Given the description of an element on the screen output the (x, y) to click on. 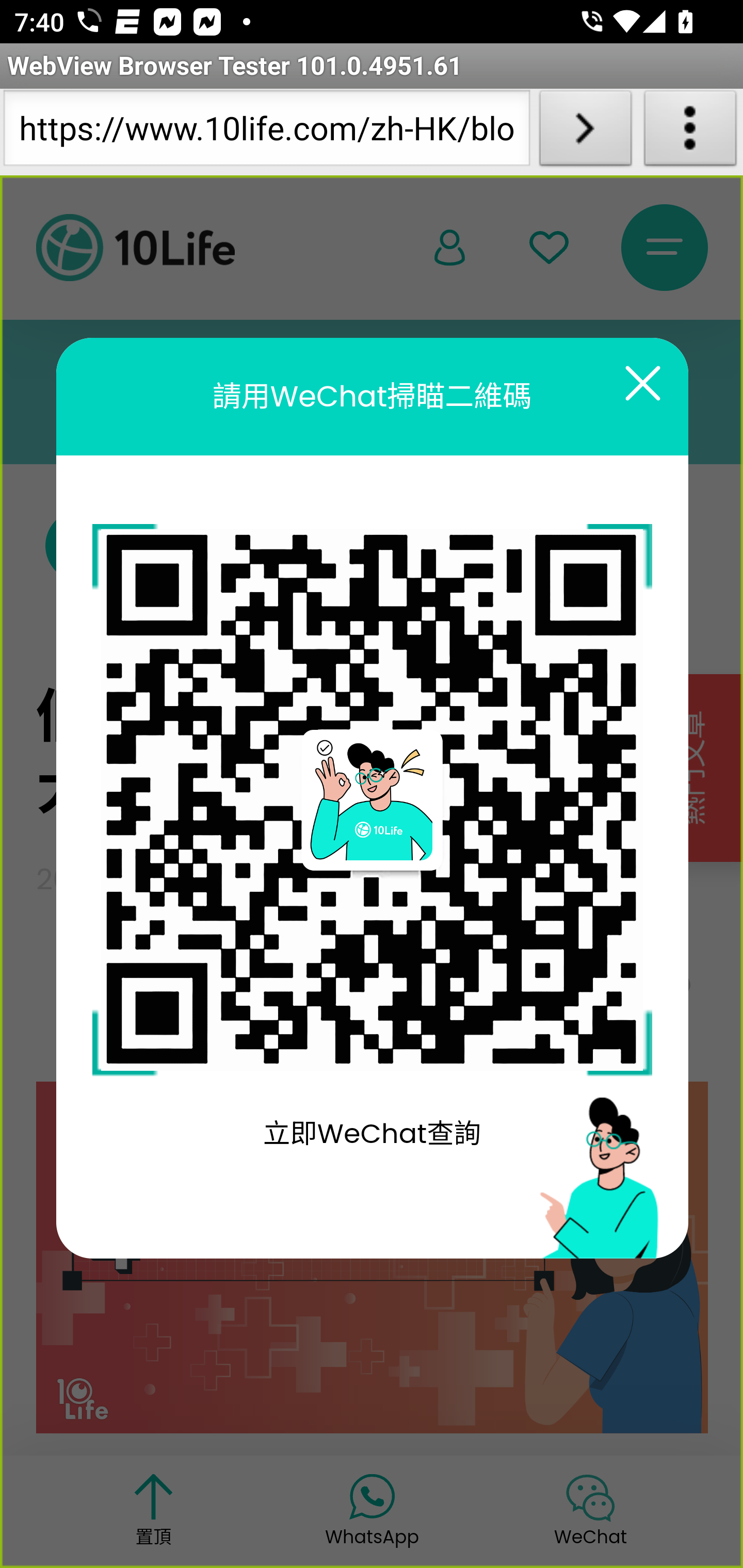
Load URL (585, 132)
About WebView (690, 132)
請用WeChat掃瞄二維碼 (371, 396)
